Given the description of an element on the screen output the (x, y) to click on. 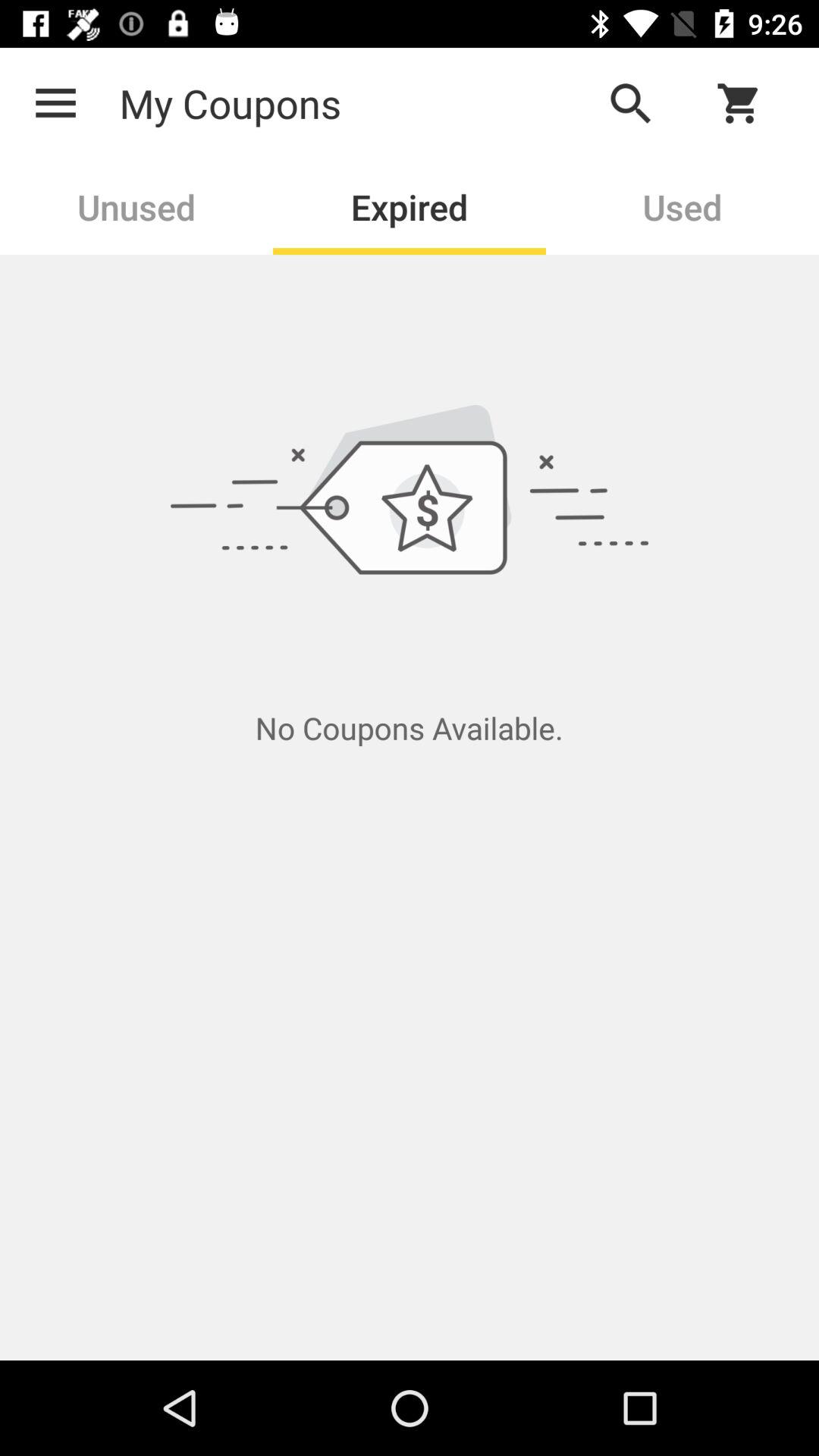
open the icon above the unused (55, 103)
